Given the description of an element on the screen output the (x, y) to click on. 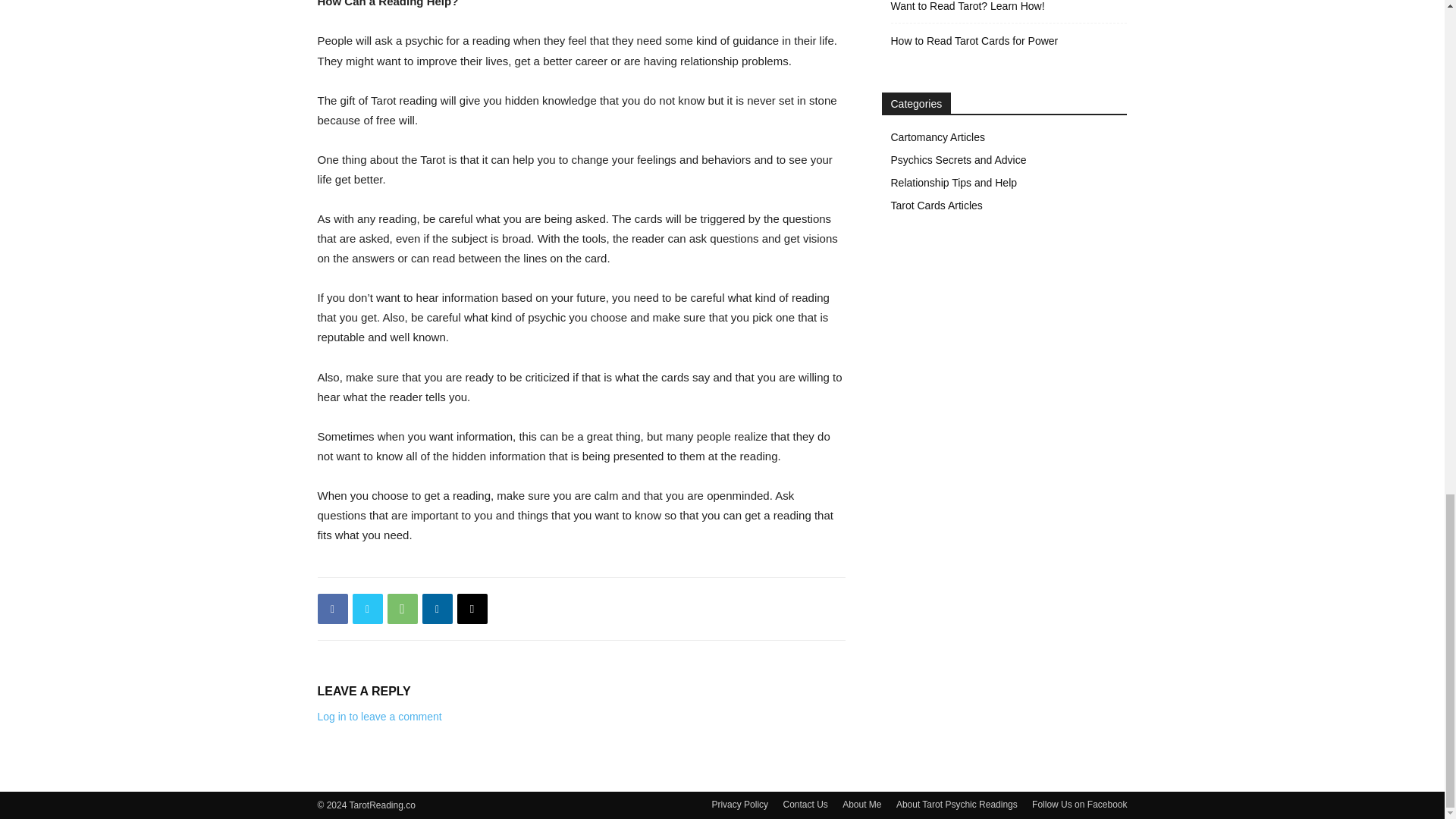
WhatsApp (401, 608)
Linkedin (436, 608)
Email (471, 608)
Facebook (332, 608)
Twitter (366, 608)
